Given the description of an element on the screen output the (x, y) to click on. 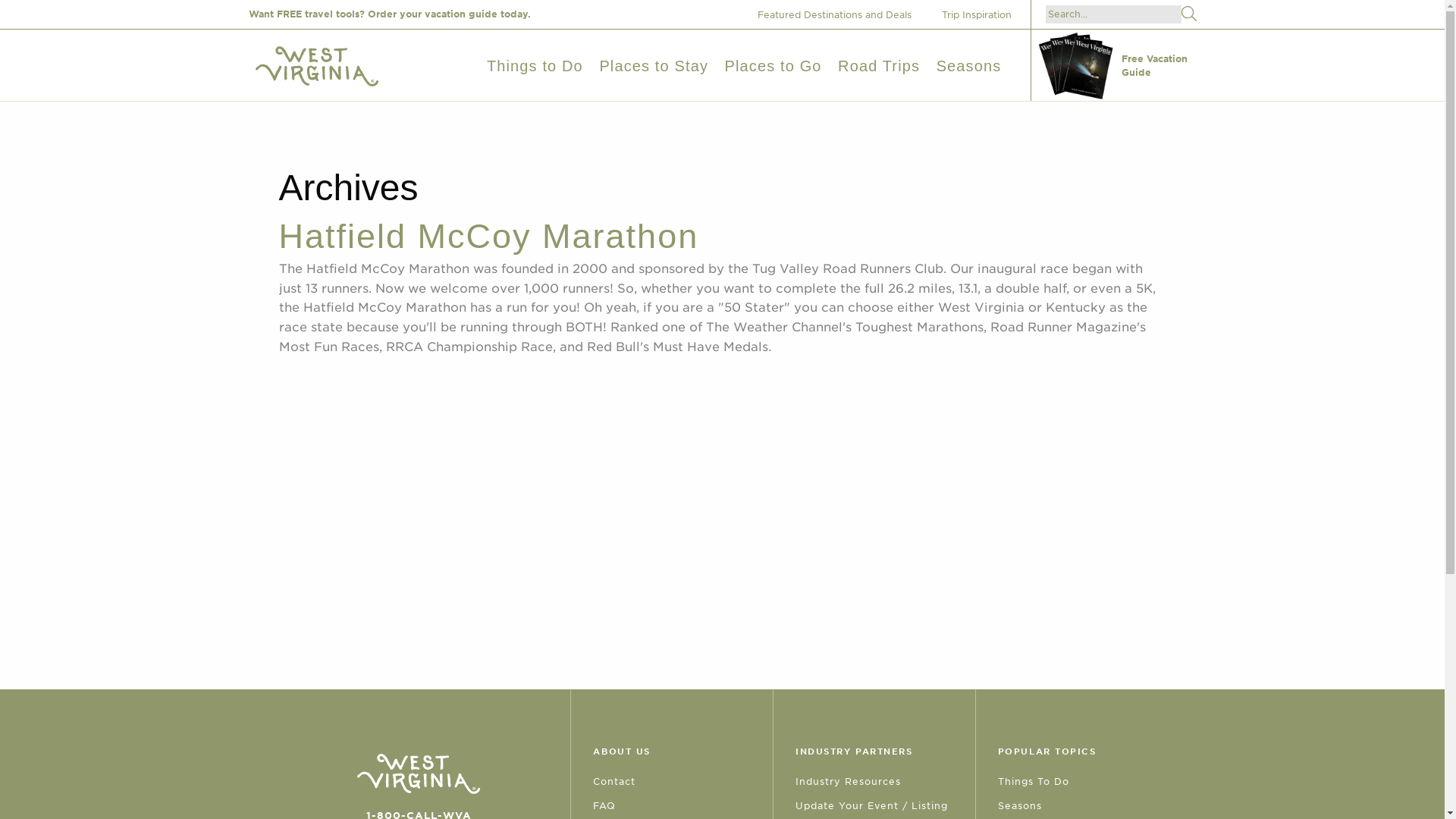
Hatfield McCoy Marathon (488, 236)
Road Trips (879, 65)
Want FREE travel tools? Order your vacation guide today. (389, 14)
Places to Stay (652, 65)
Places to Go (773, 65)
Seasons (968, 65)
Featured Destinations and Deals (839, 14)
Free Vacation Guide (1116, 65)
Things to Do (534, 65)
Trip Inspiration (982, 14)
